Given the description of an element on the screen output the (x, y) to click on. 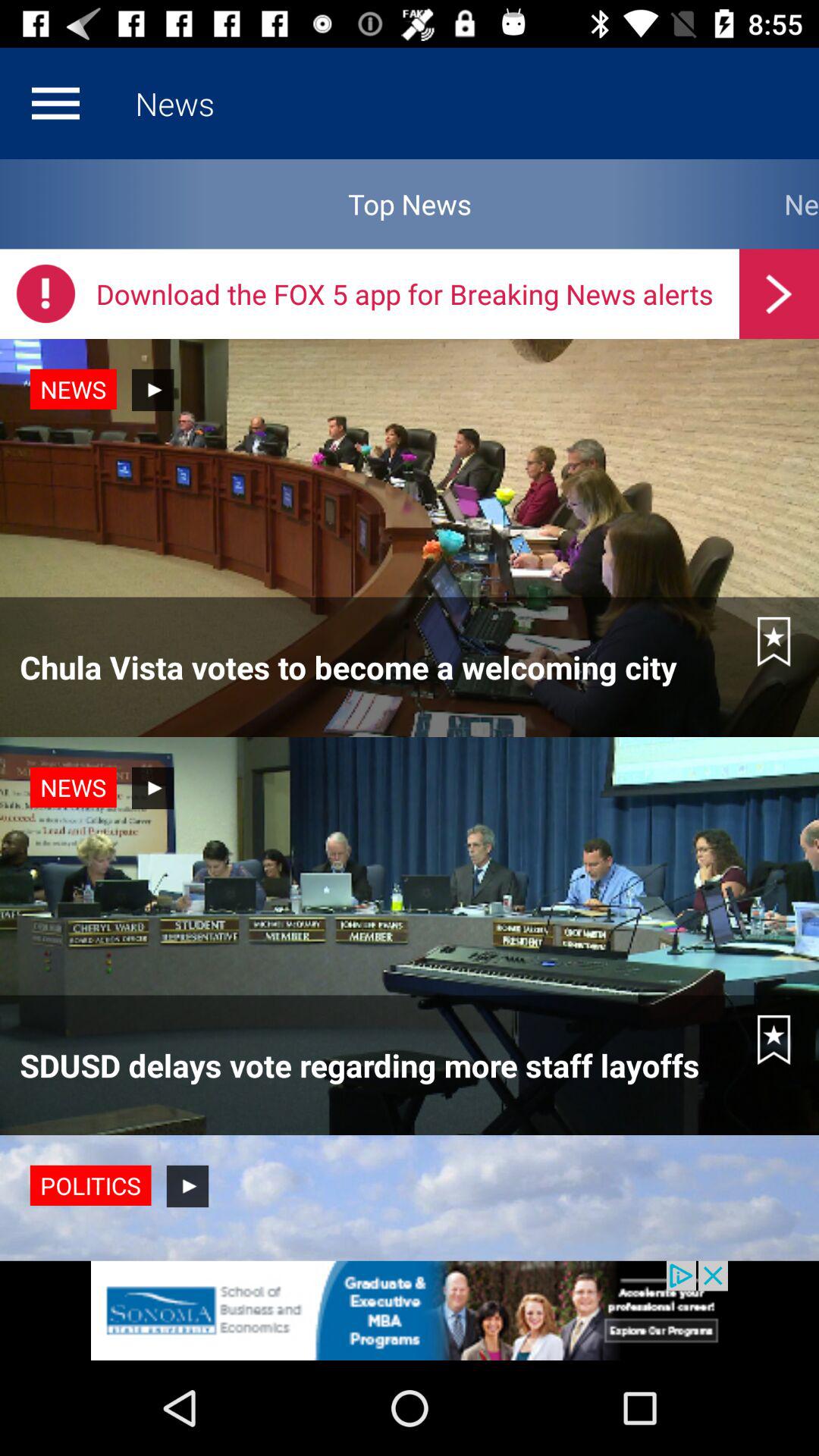
click discriiption (409, 1310)
